Given the description of an element on the screen output the (x, y) to click on. 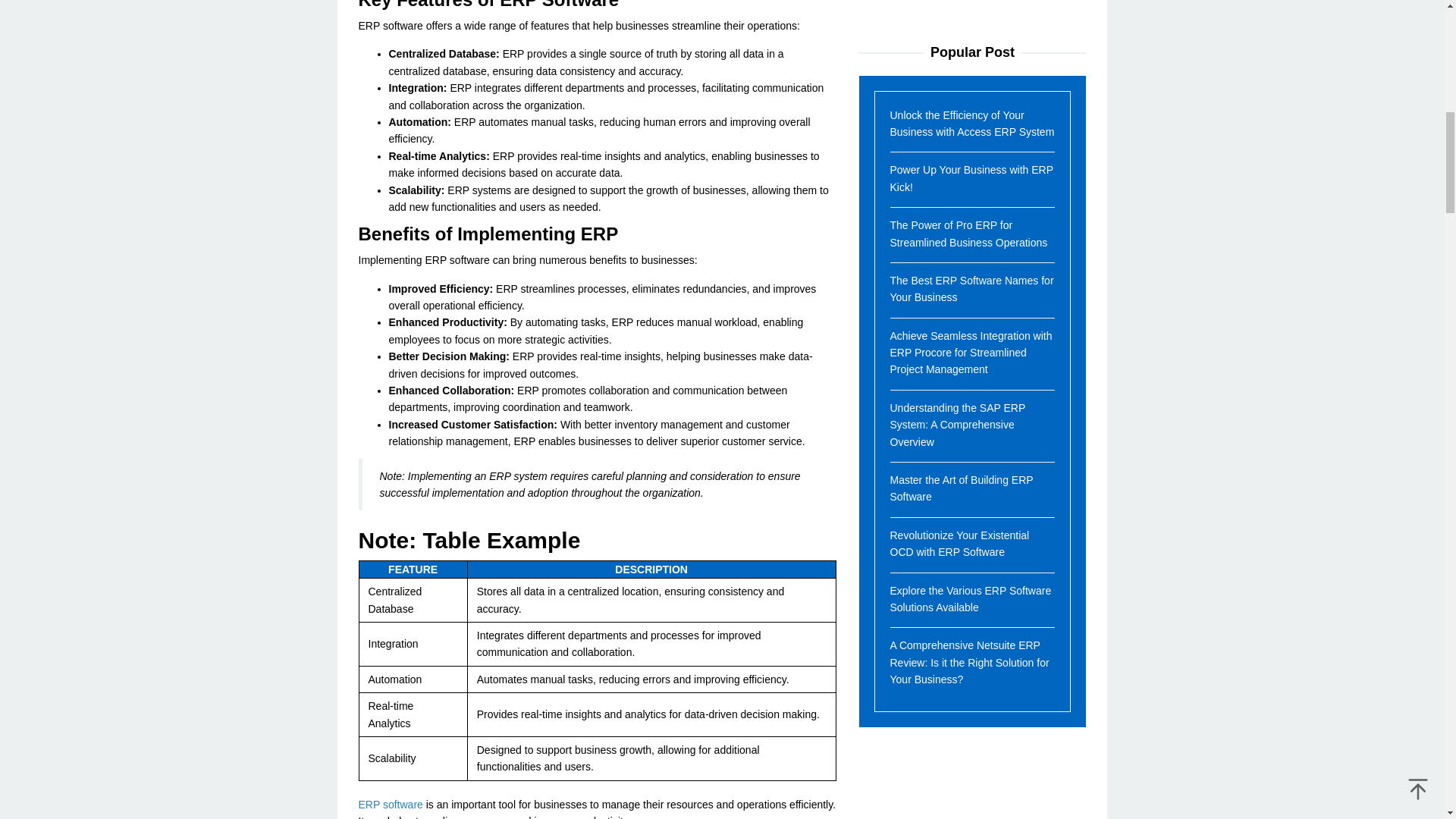
ERP software (390, 804)
Explore the Various ERP Software Solutions Available (970, 127)
Permalink to: Master the Art of Building ERP Software (961, 17)
Revolutionize Your Existential OCD with ERP Software (959, 72)
Master the Art of Building ERP Software (961, 17)
